Given the description of an element on the screen output the (x, y) to click on. 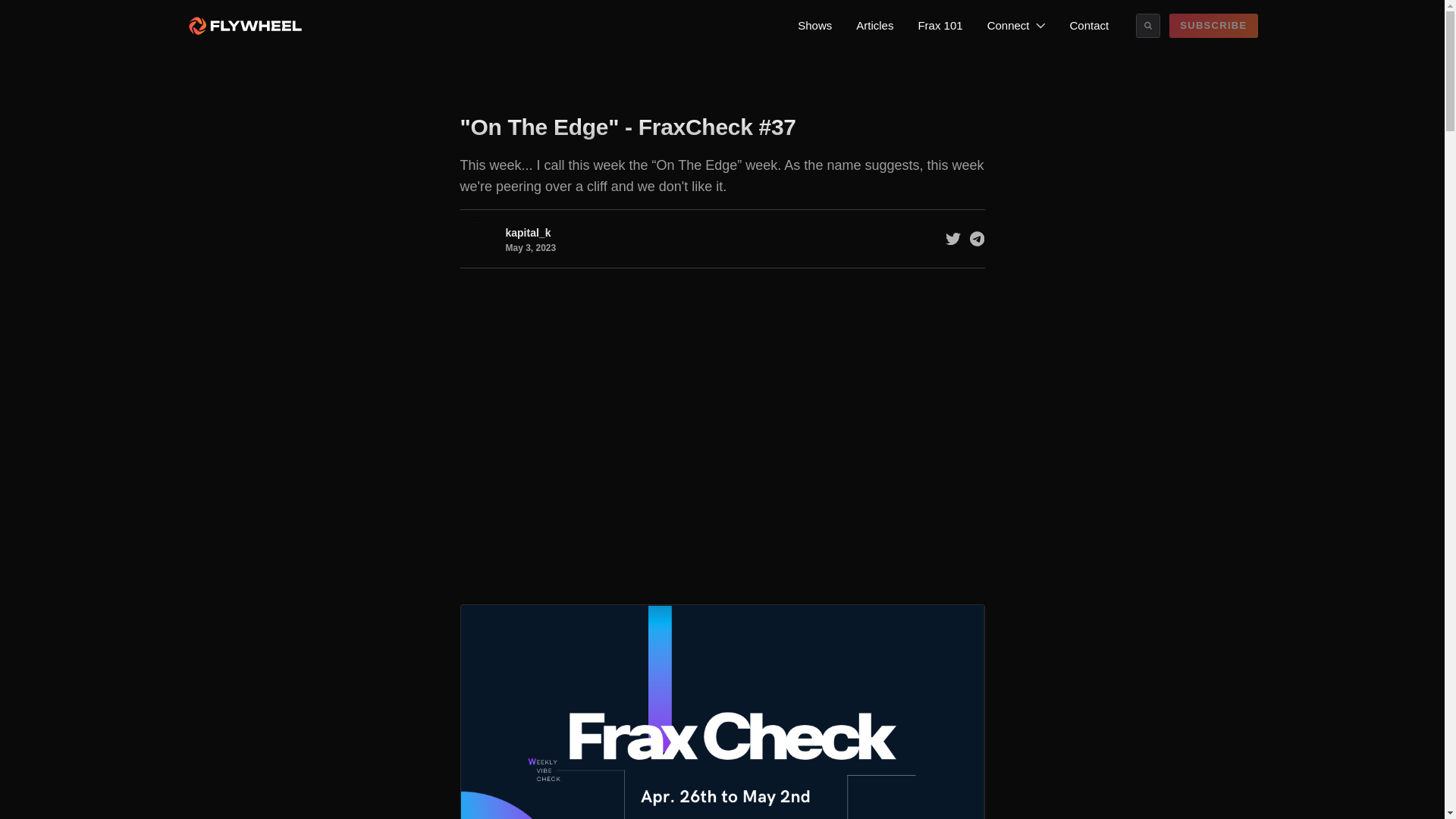
SUBSCRIBE (1213, 25)
Contact (1089, 25)
Shows (815, 25)
Frax 101 (939, 25)
Articles (874, 25)
